Given the description of an element on the screen output the (x, y) to click on. 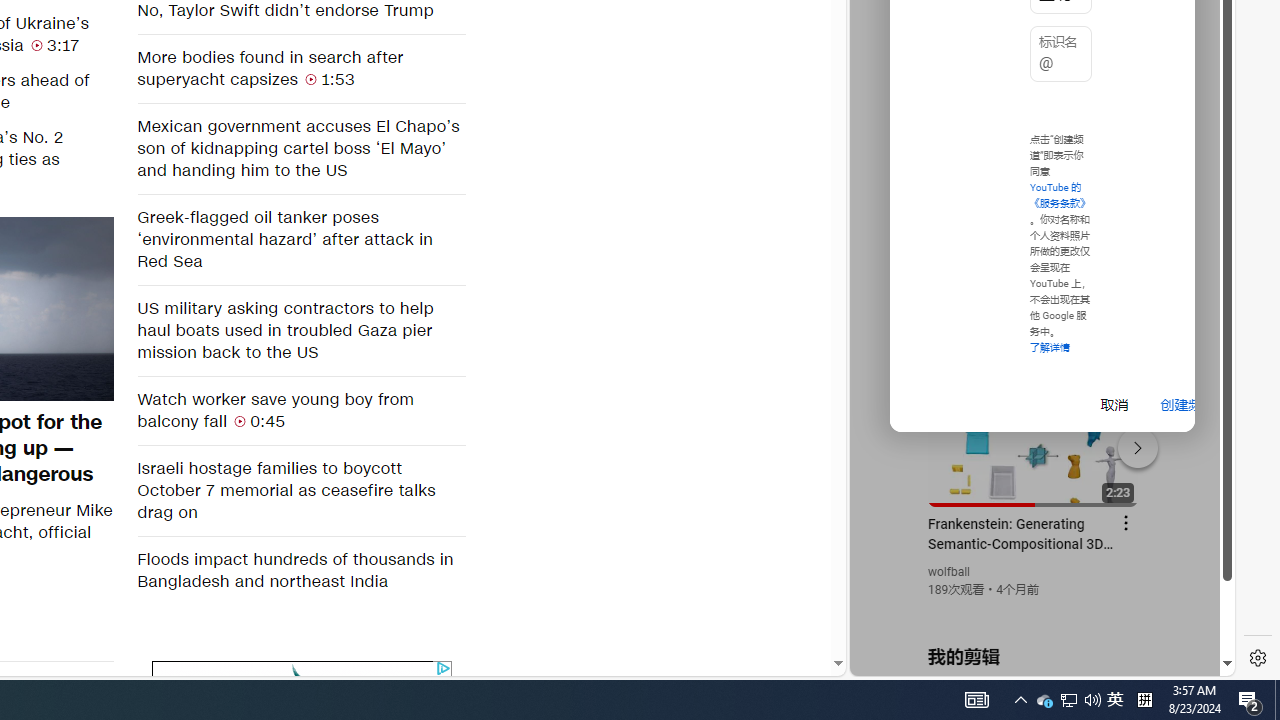
YouTube - YouTube (1034, 266)
AutomationID: brandFlyLogo (302, 676)
Class: container__video-duration-icon (240, 420)
US[ju] (917, 660)
